Given the description of an element on the screen output the (x, y) to click on. 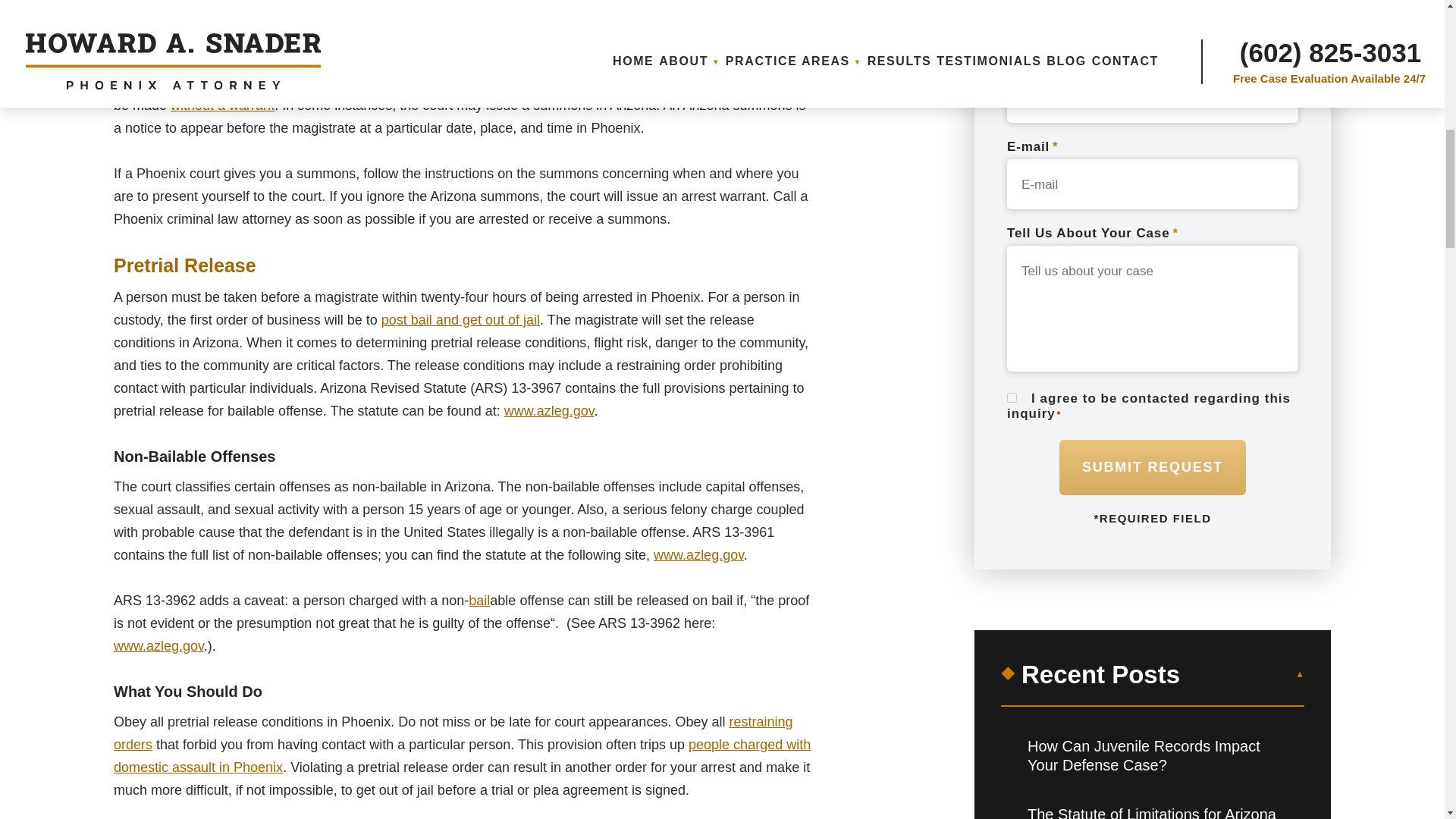
bail (478, 600)
Submit Request (1152, 466)
people charged with domestic assault in Phoenix (461, 755)
www.azleg.gov (548, 410)
post bail and get out of jail (460, 319)
www.azleg.gov (698, 554)
www.azleg.gov (158, 645)
restraining orders (452, 733)
1 (1011, 397)
without a warrant (222, 105)
